Given the description of an element on the screen output the (x, y) to click on. 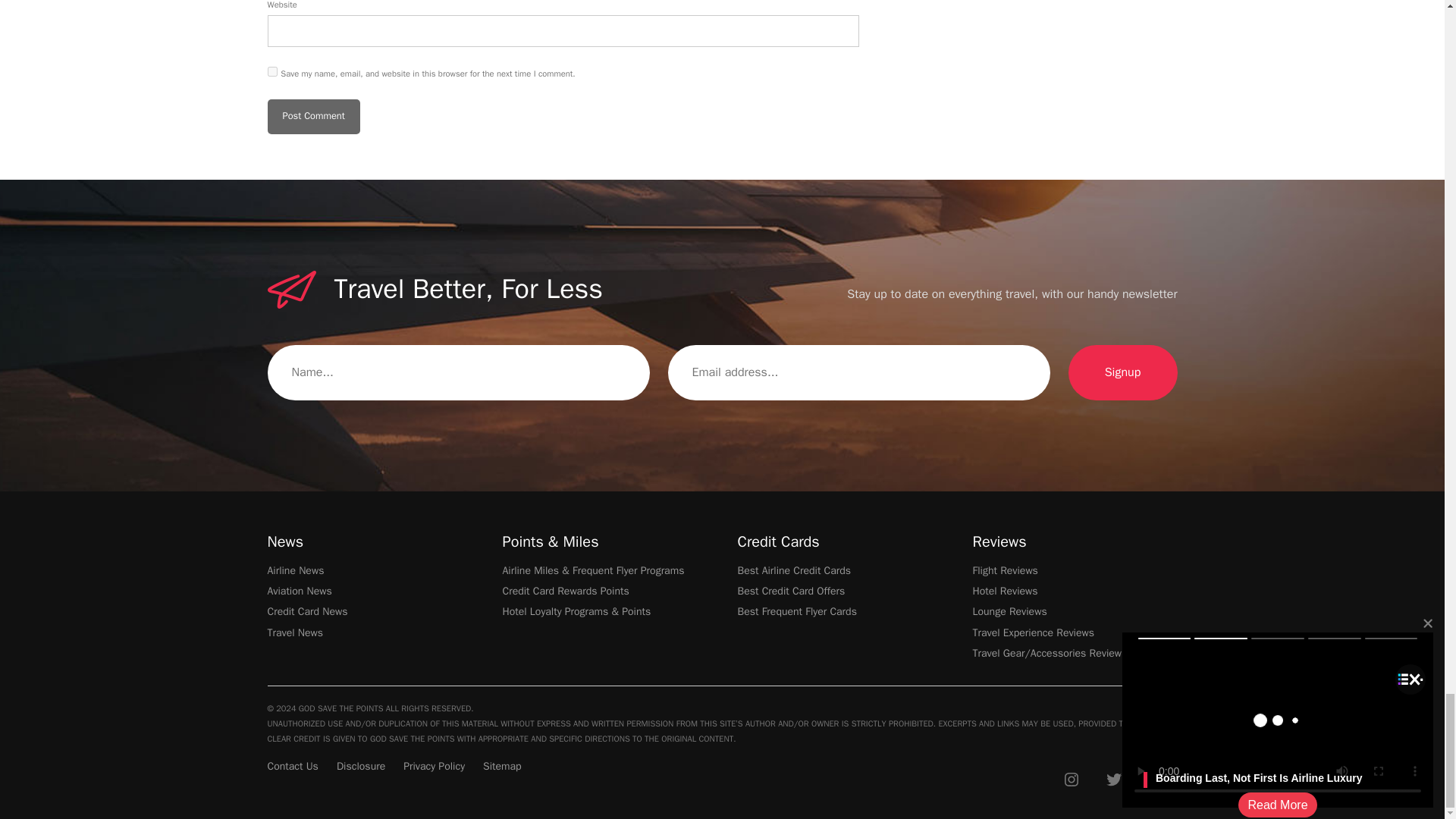
Post Comment (312, 116)
Signup (1121, 372)
yes (271, 71)
